Given the description of an element on the screen output the (x, y) to click on. 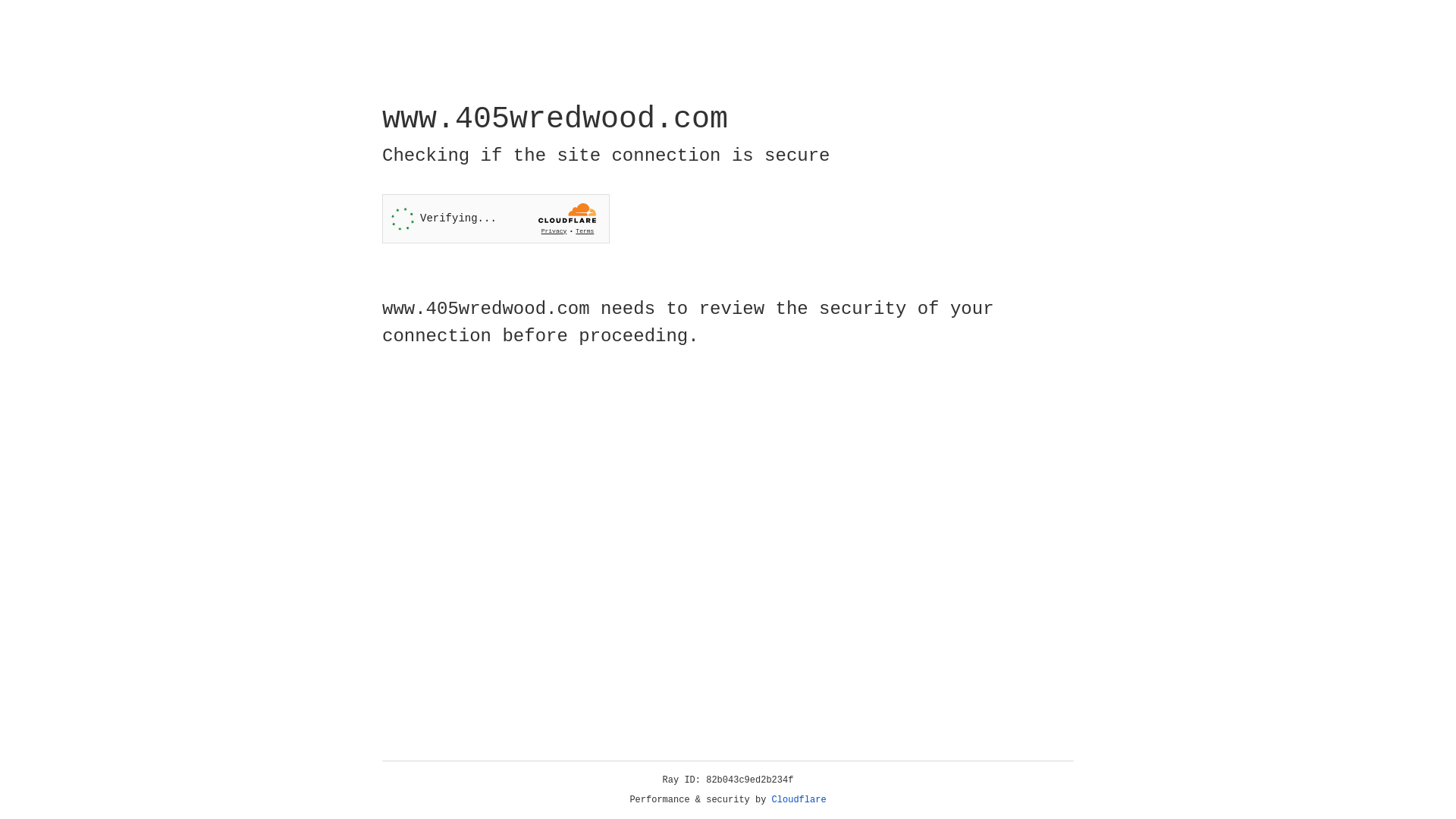
Widget containing a Cloudflare security challenge Element type: hover (495, 218)
Cloudflare Element type: text (798, 799)
